Given the description of an element on the screen output the (x, y) to click on. 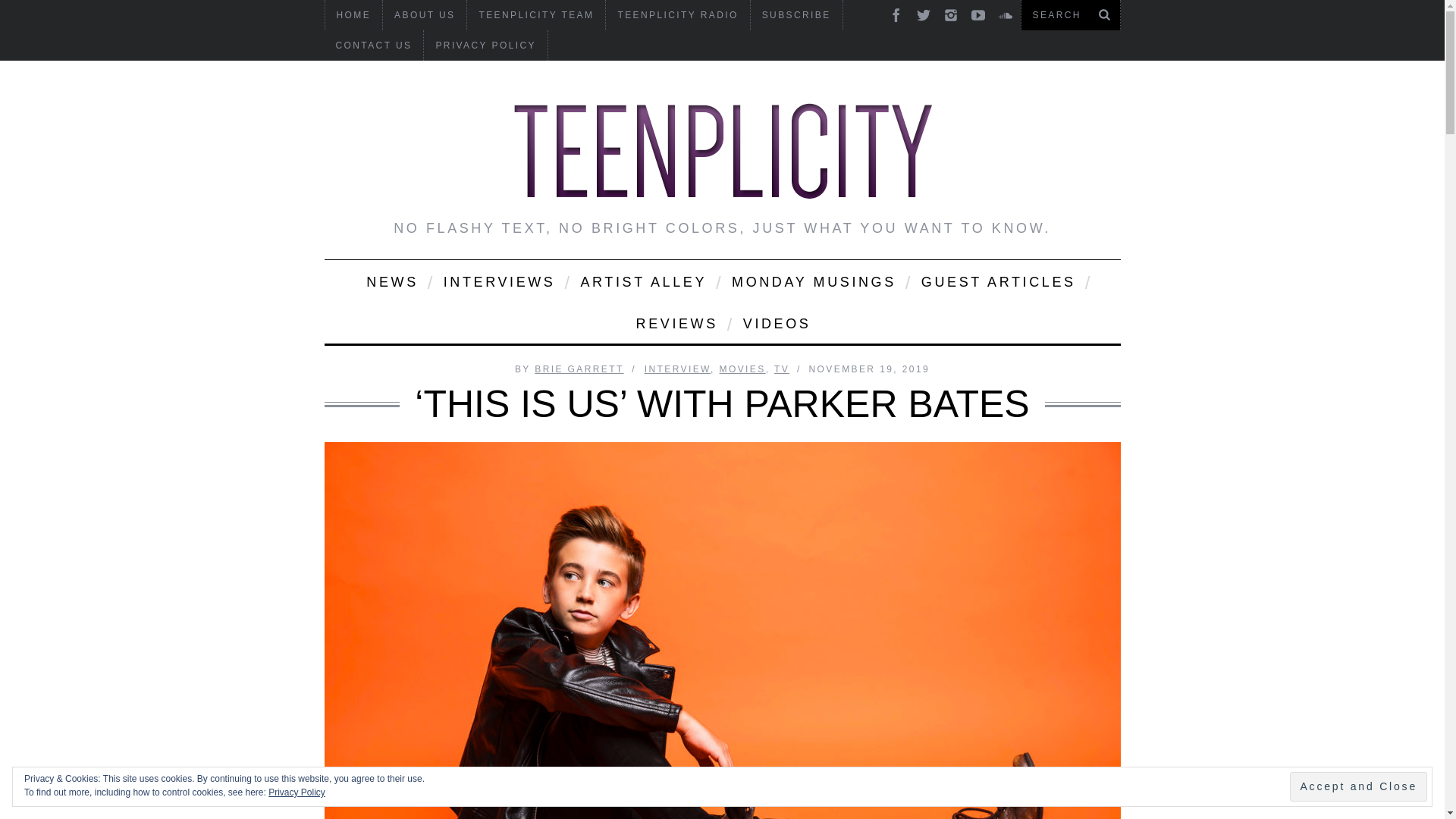
Search (1070, 15)
Accept and Close (1358, 786)
